Given the description of an element on the screen output the (x, y) to click on. 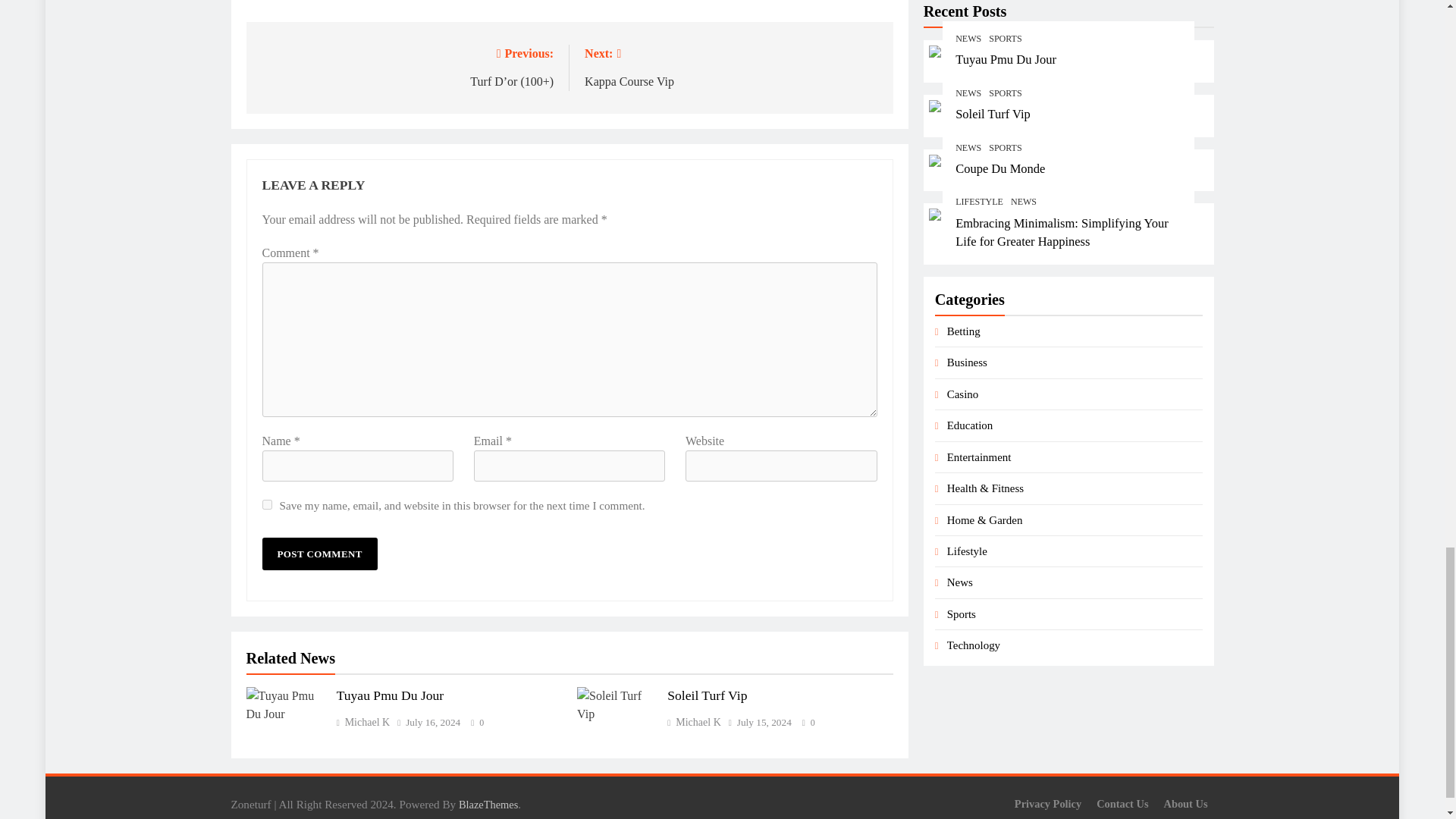
yes (267, 504)
Post Comment (319, 553)
